Given the description of an element on the screen output the (x, y) to click on. 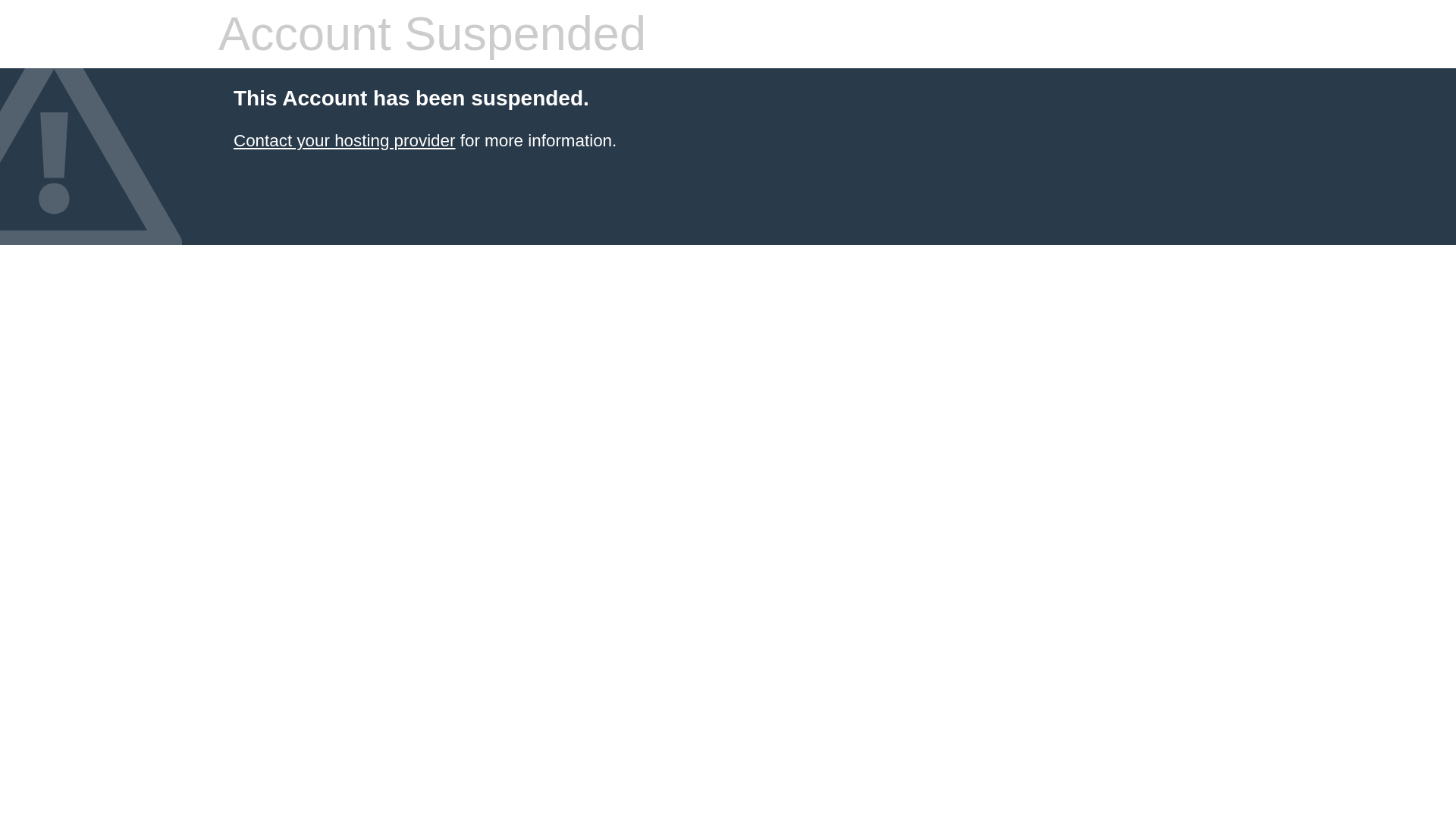
Contact your hosting provider (343, 140)
